Given the description of an element on the screen output the (x, y) to click on. 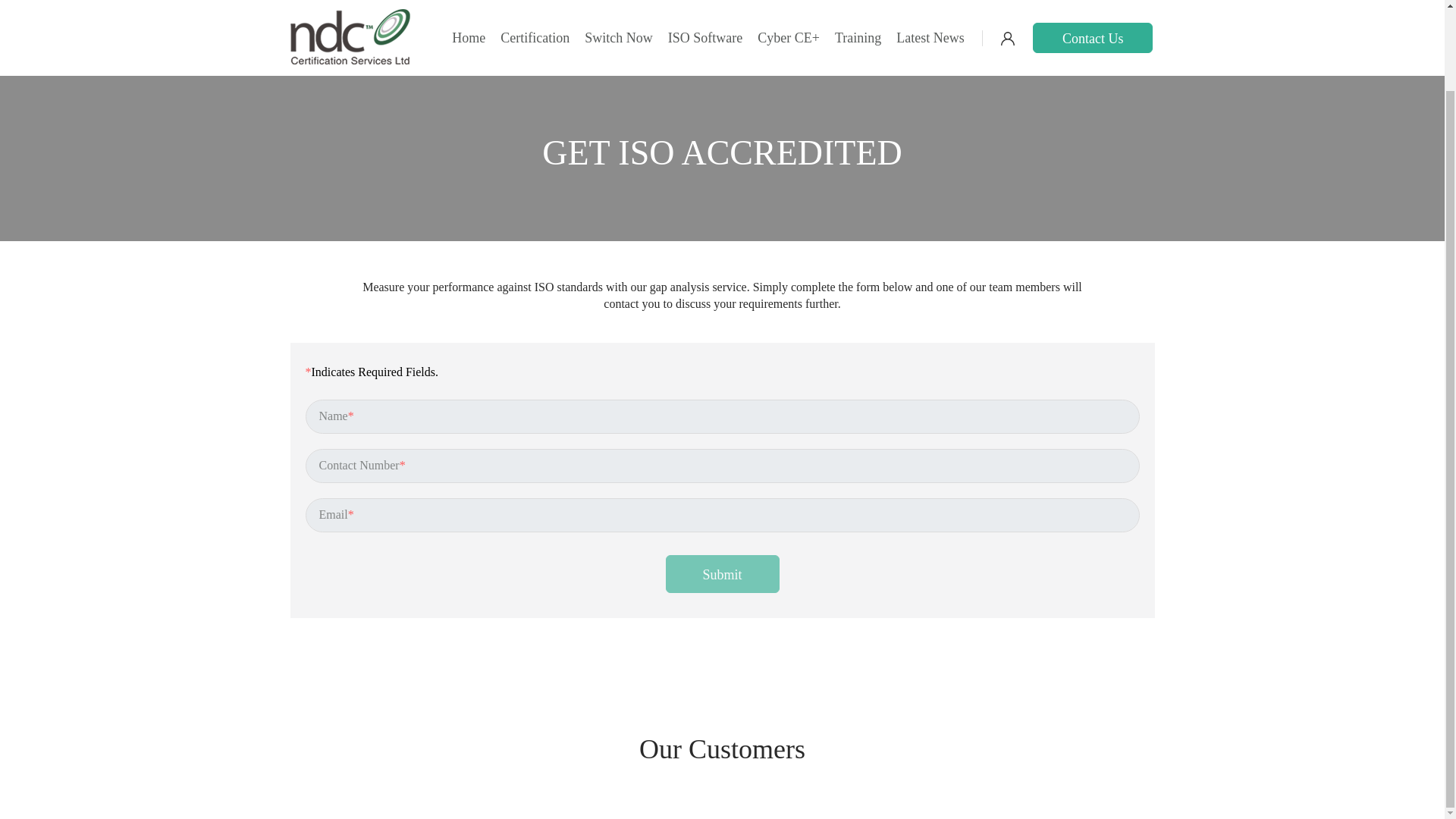
ISO45001 (906, 7)
ISO9001 (473, 7)
ISO50001 (748, 7)
Submit (721, 573)
ISO27001 (1053, 7)
ISO55001 (330, 7)
ISO14001 (626, 7)
